Given the description of an element on the screen output the (x, y) to click on. 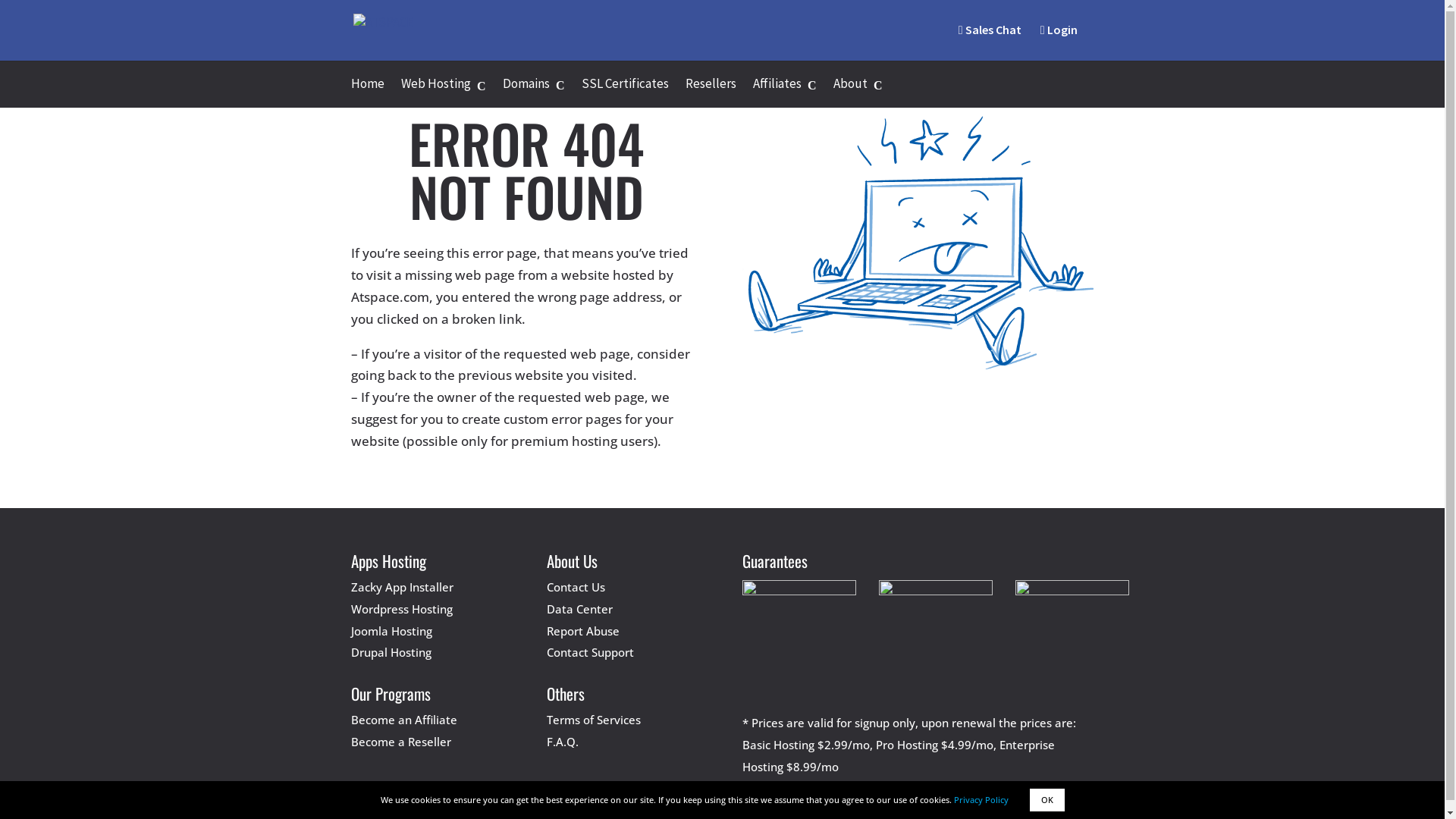
Become a Reseller Element type: text (400, 741)
Zetta Hosting Solutions ltd Element type: text (820, 803)
Sales Chat Element type: text (989, 42)
Privacy Policy Element type: text (980, 799)
Sales Chat Element type: text (989, 29)
Report Abuse Element type: text (582, 630)
Joomla Hosting Element type: text (390, 630)
Login Element type: text (1058, 42)
Domains Element type: text (533, 92)
Drupal Hosting Element type: text (390, 651)
F.A.Q. Element type: text (562, 741)
Contact Us Element type: text (575, 586)
Wordpress Hosting Element type: text (400, 608)
Web Hosting Element type: text (442, 92)
Terms of Services Element type: text (593, 719)
Home Element type: text (366, 92)
Zacky App Installer Element type: text (401, 586)
Resellers Element type: text (710, 92)
Contact Support Element type: text (589, 651)
OK Element type: text (1046, 799)
Become an Affiliate Element type: text (403, 719)
Affiliates Element type: text (783, 92)
About Element type: text (856, 92)
Data Center Element type: text (579, 608)
SSL Certificates Element type: text (624, 92)
AttractSoft GmbH Element type: text (677, 803)
